Given the description of an element on the screen output the (x, y) to click on. 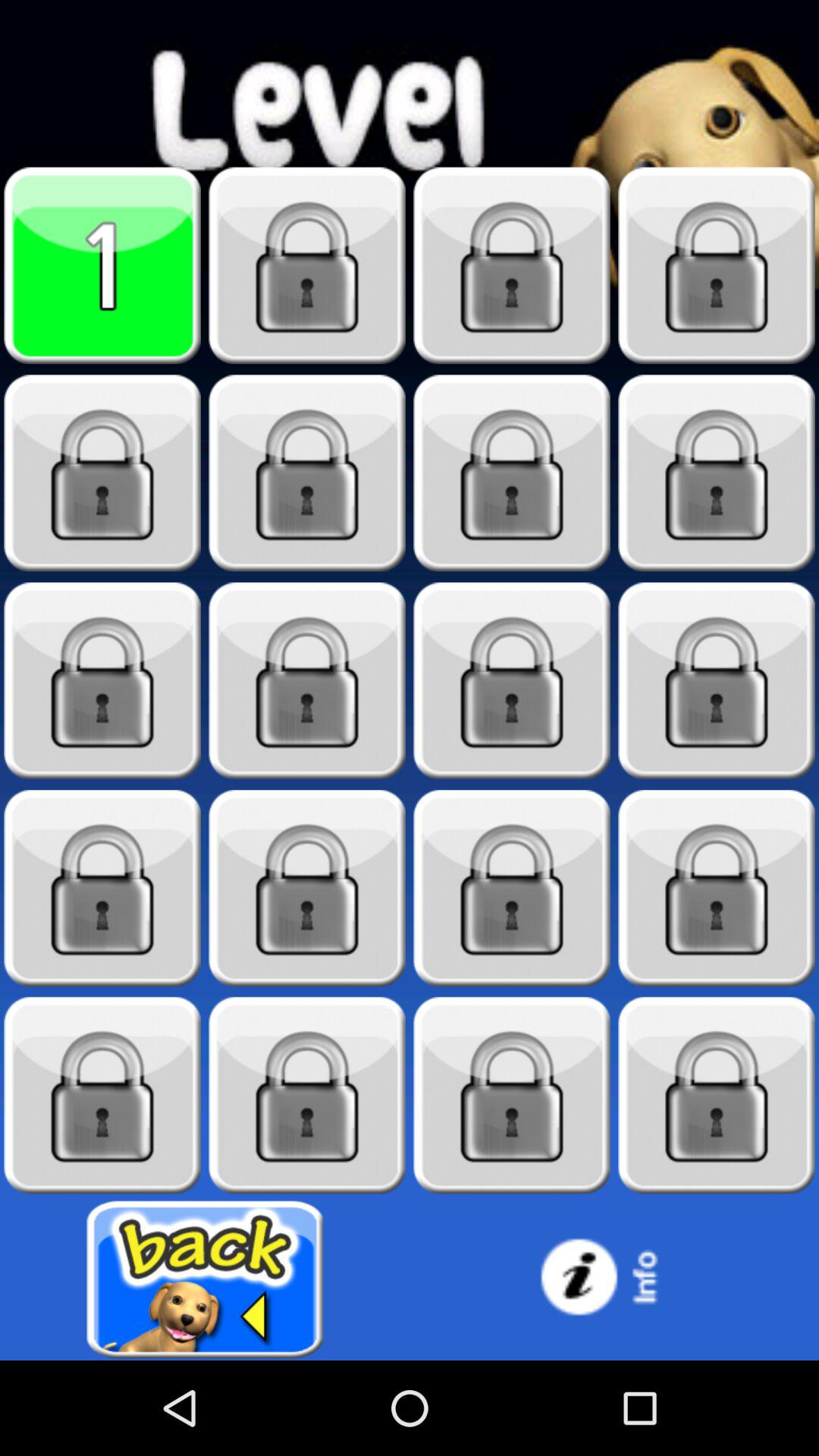
begin level 1 (102, 265)
